Given the description of an element on the screen output the (x, y) to click on. 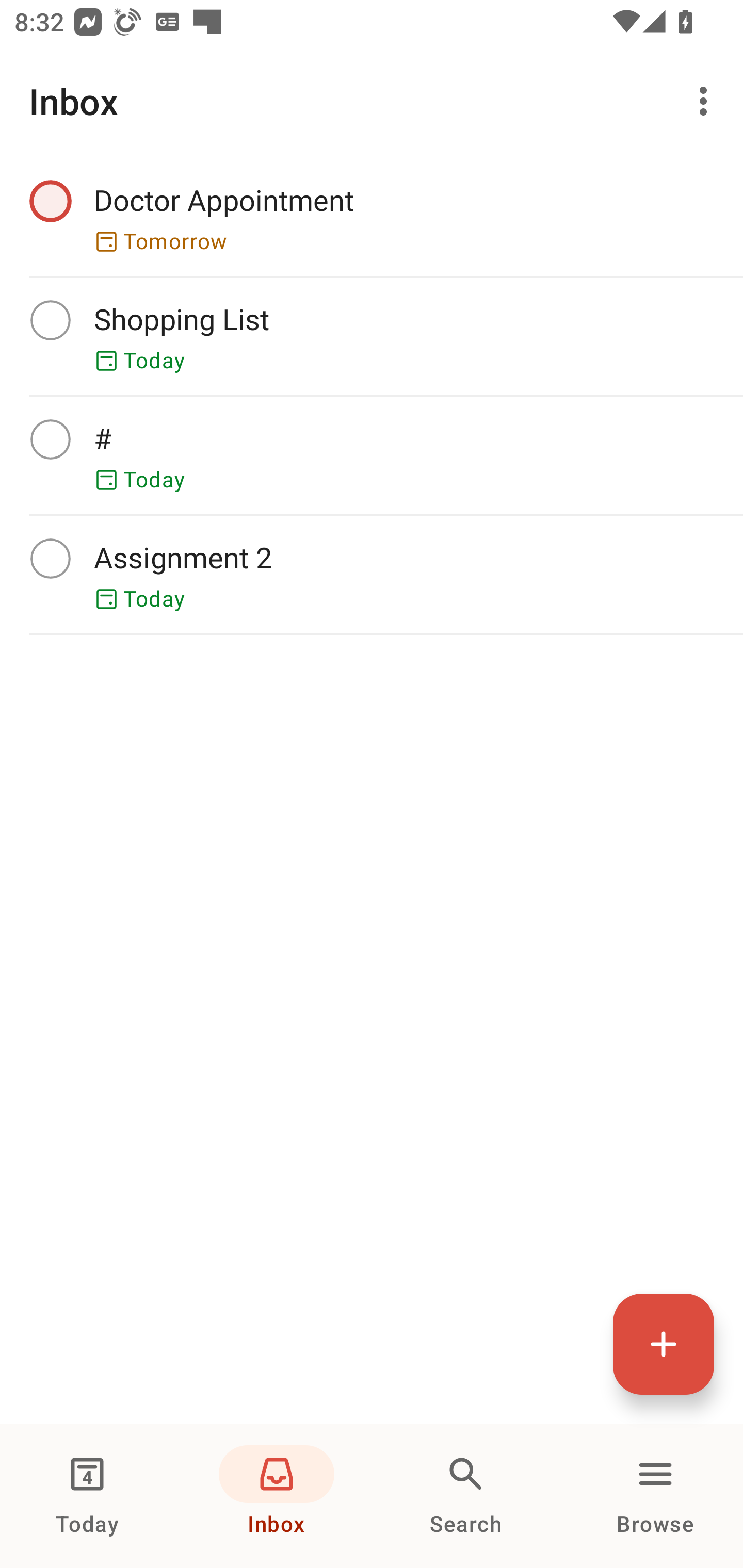
Inbox More options (371, 100)
More options (706, 101)
Complete Doctor Appointment Tomorrow (371, 216)
Complete (50, 200)
Complete Shopping List Today (371, 336)
Complete (50, 319)
Complete # Today (371, 455)
Complete (50, 438)
Complete Assignment 2 Today (371, 574)
Complete (50, 558)
Quick add (663, 1343)
Today (87, 1495)
Search (465, 1495)
Browse (655, 1495)
